Given the description of an element on the screen output the (x, y) to click on. 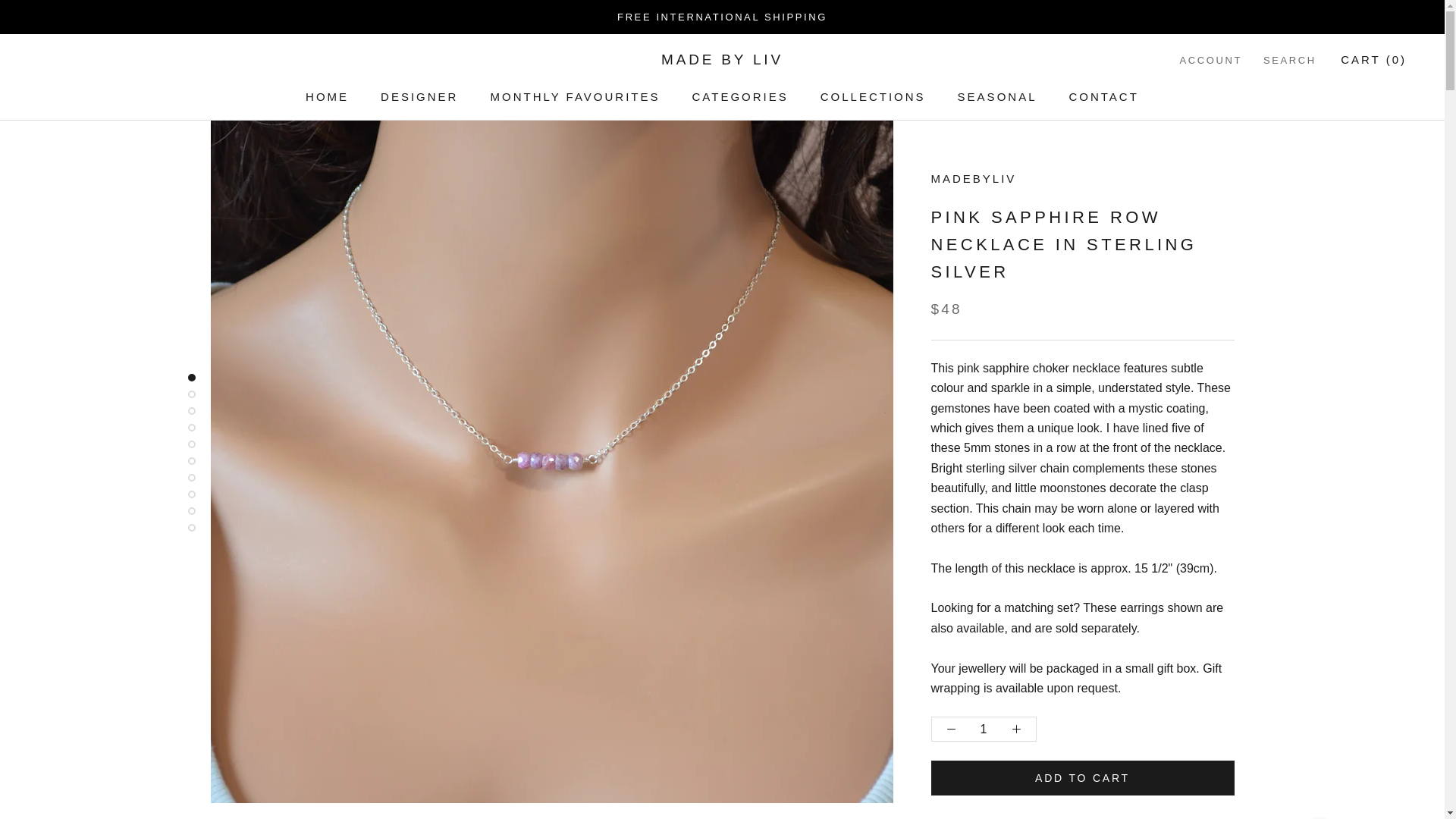
1 (984, 729)
